Given the description of an element on the screen output the (x, y) to click on. 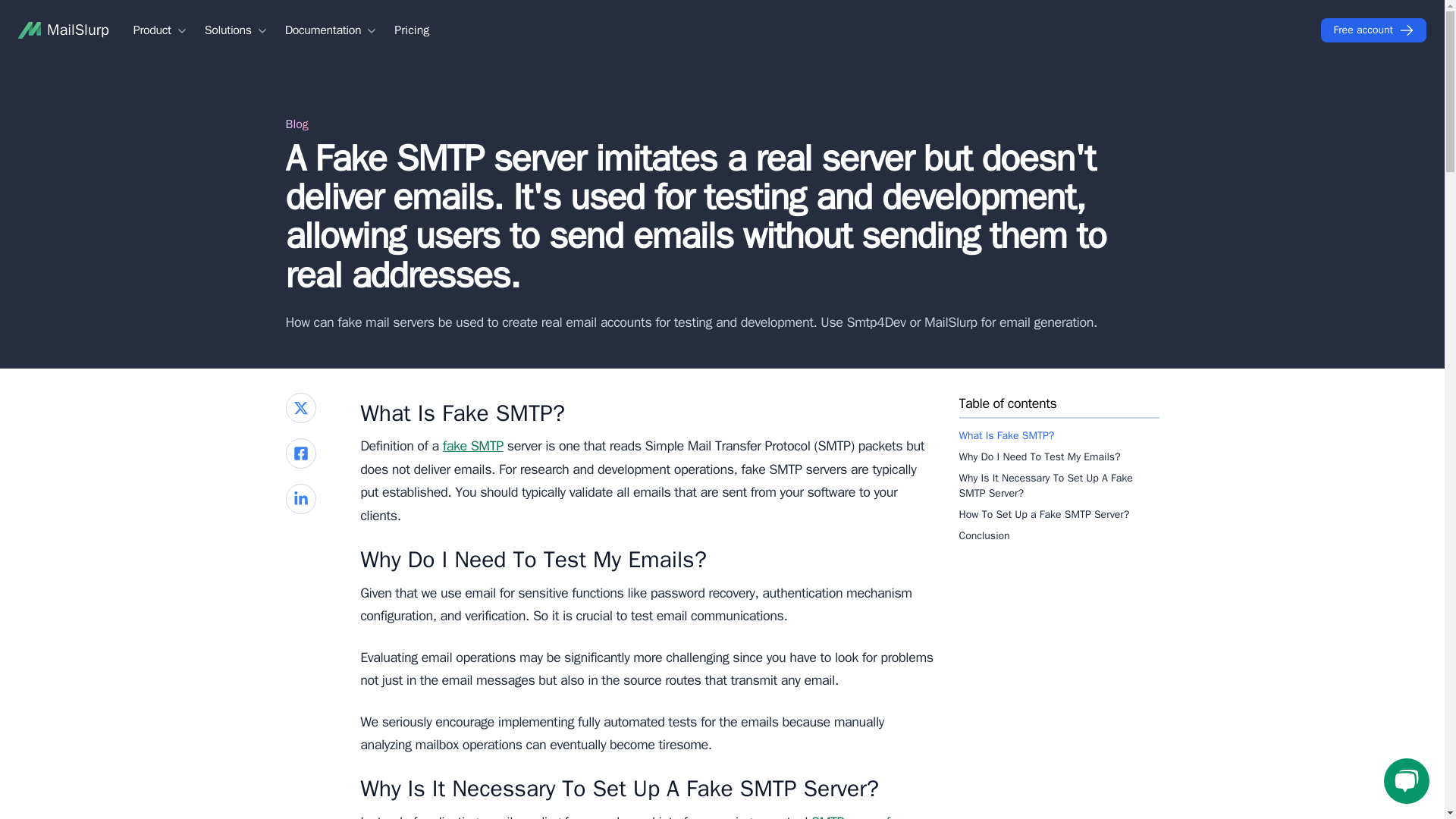
Pricing (411, 30)
Share on Facebook (300, 453)
Share on LinkedIn (300, 499)
Blog (296, 124)
Solutions (237, 29)
How To Set Up a Fake SMTP Server? (1058, 513)
Product (161, 29)
Why Do I Need To Test My Emails? (1058, 455)
Why Is It Necessary To Set Up A Fake SMTP Server? (1058, 484)
Free account (1373, 30)
Share on X (300, 408)
Documentation (332, 29)
MailSlurp (63, 29)
fake SMTP (472, 445)
